Given the description of an element on the screen output the (x, y) to click on. 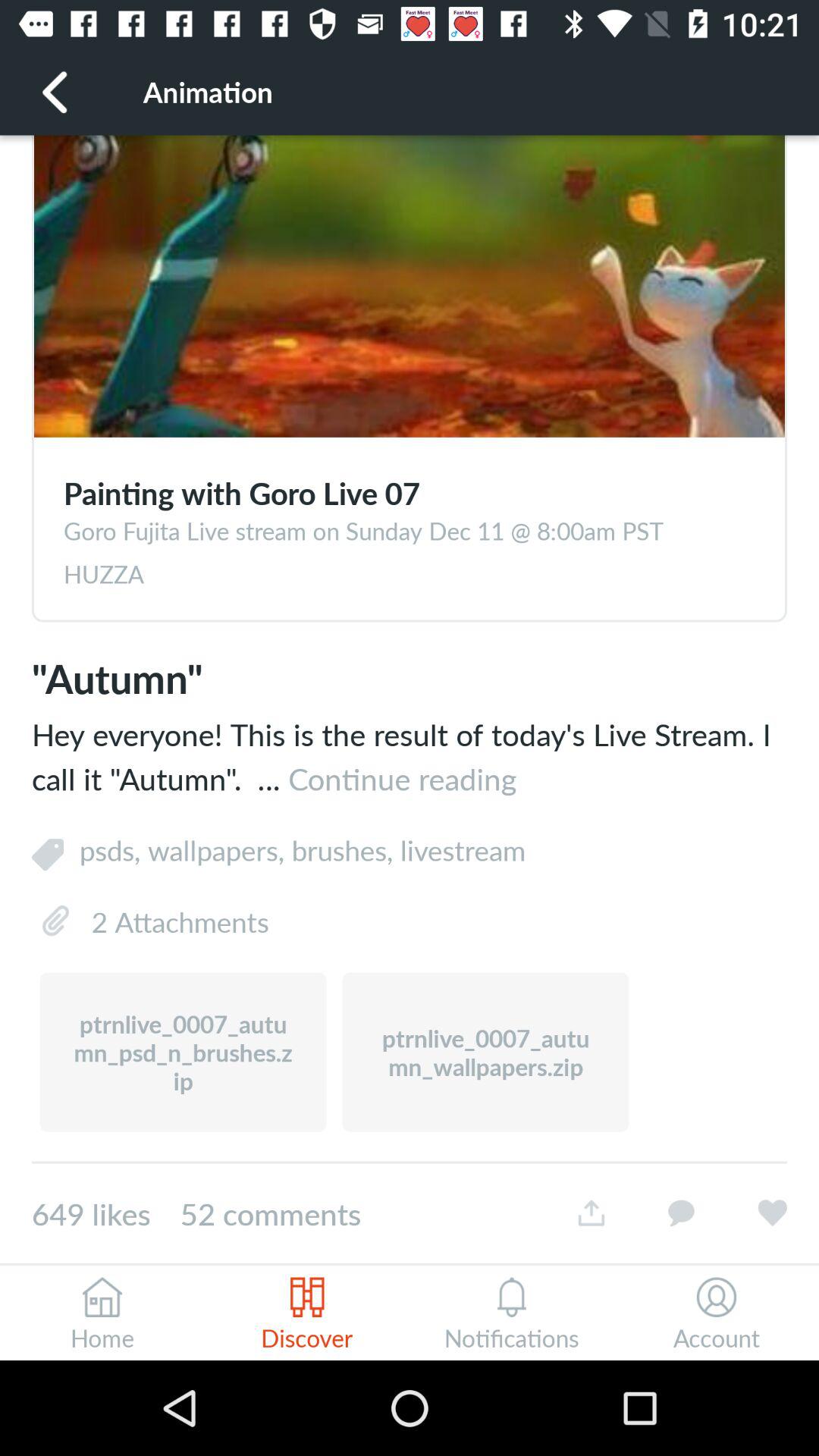
click on icon above account (716, 1297)
